Given the description of an element on the screen output the (x, y) to click on. 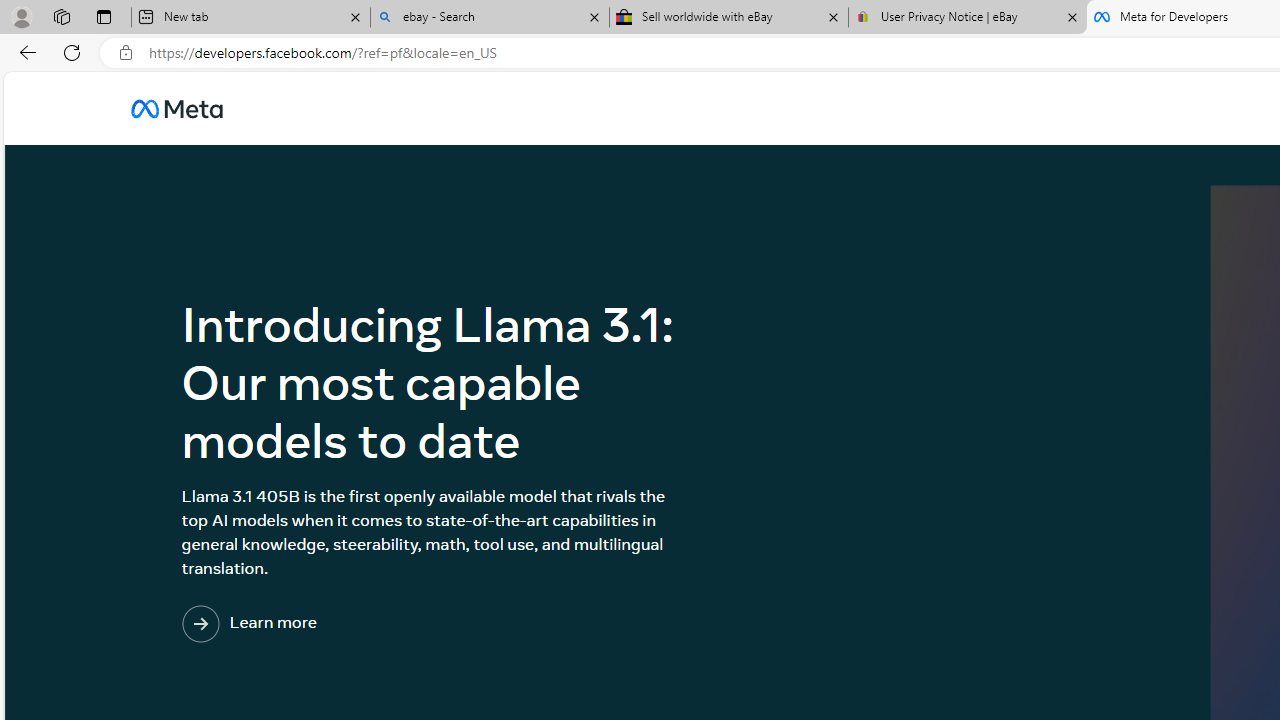
Learn more (331, 624)
AutomationID: u_0_25_3H (176, 107)
User Privacy Notice | eBay (967, 17)
Sell worldwide with eBay (729, 17)
